Given the description of an element on the screen output the (x, y) to click on. 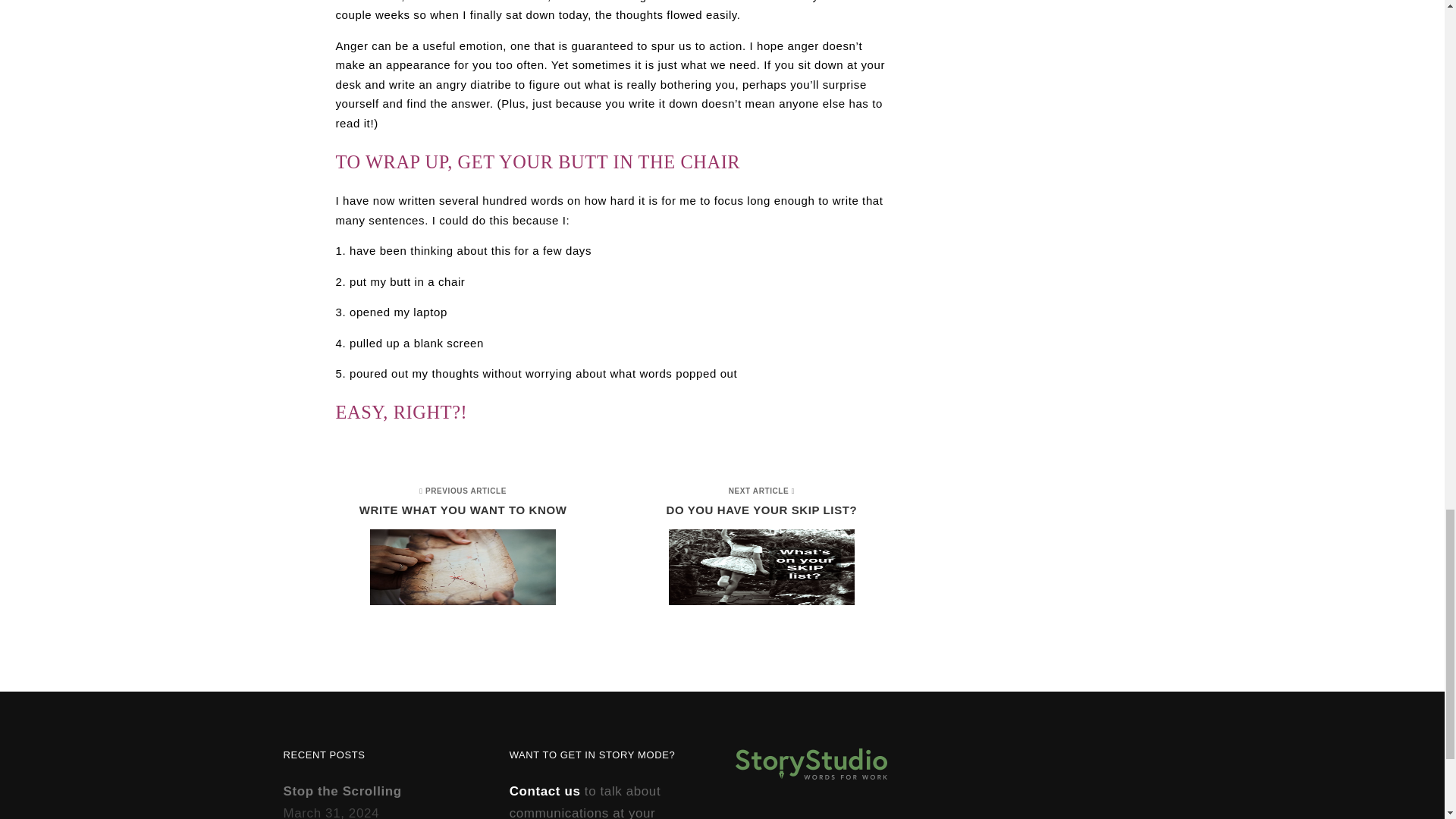
Stop the Scrolling (754, 547)
Contact us (342, 790)
Stop the Scrolling (469, 547)
